Given the description of an element on the screen output the (x, y) to click on. 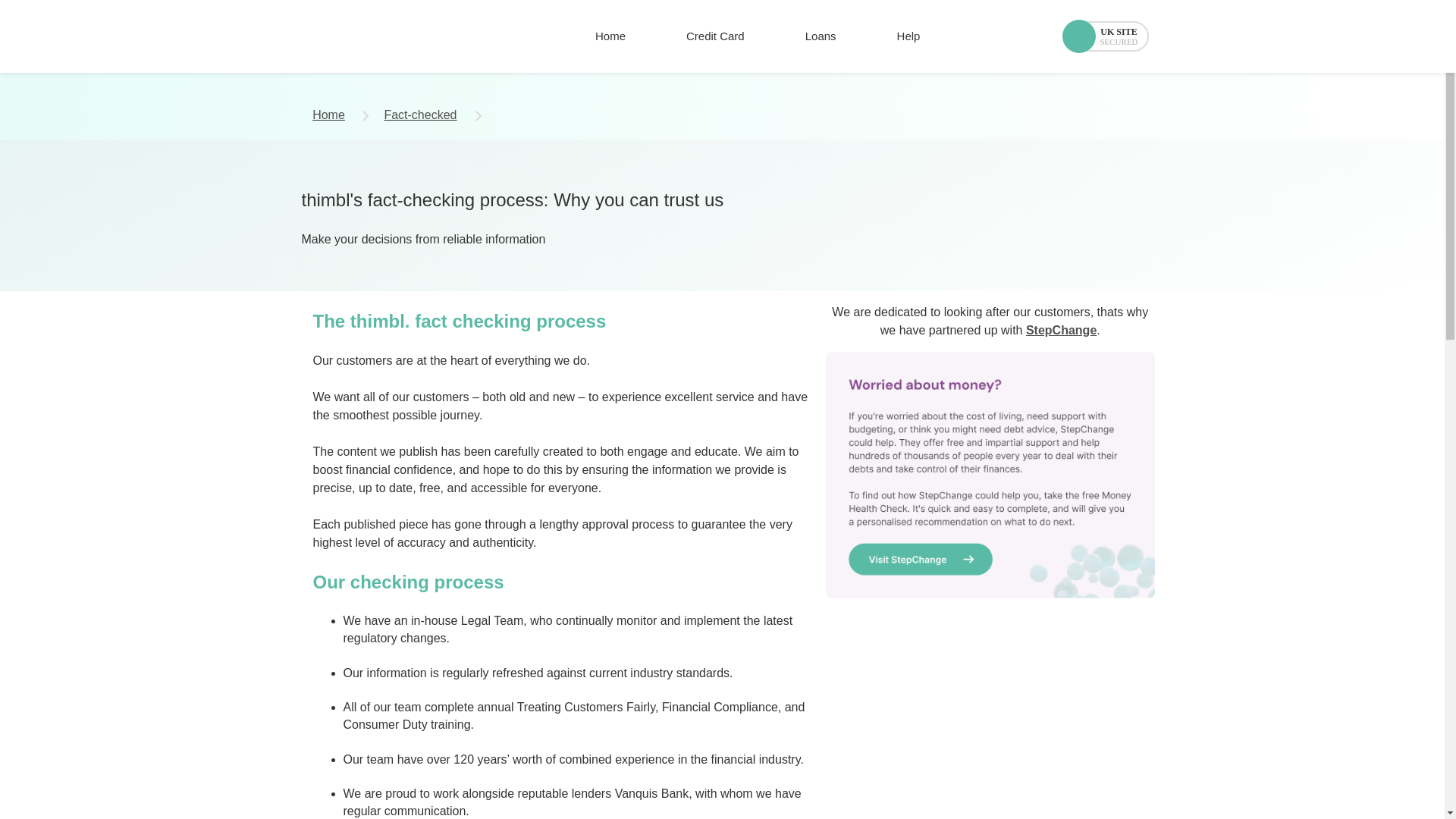
Home (610, 36)
Help (908, 36)
Loans (820, 36)
Credit Card (715, 36)
